Given the description of an element on the screen output the (x, y) to click on. 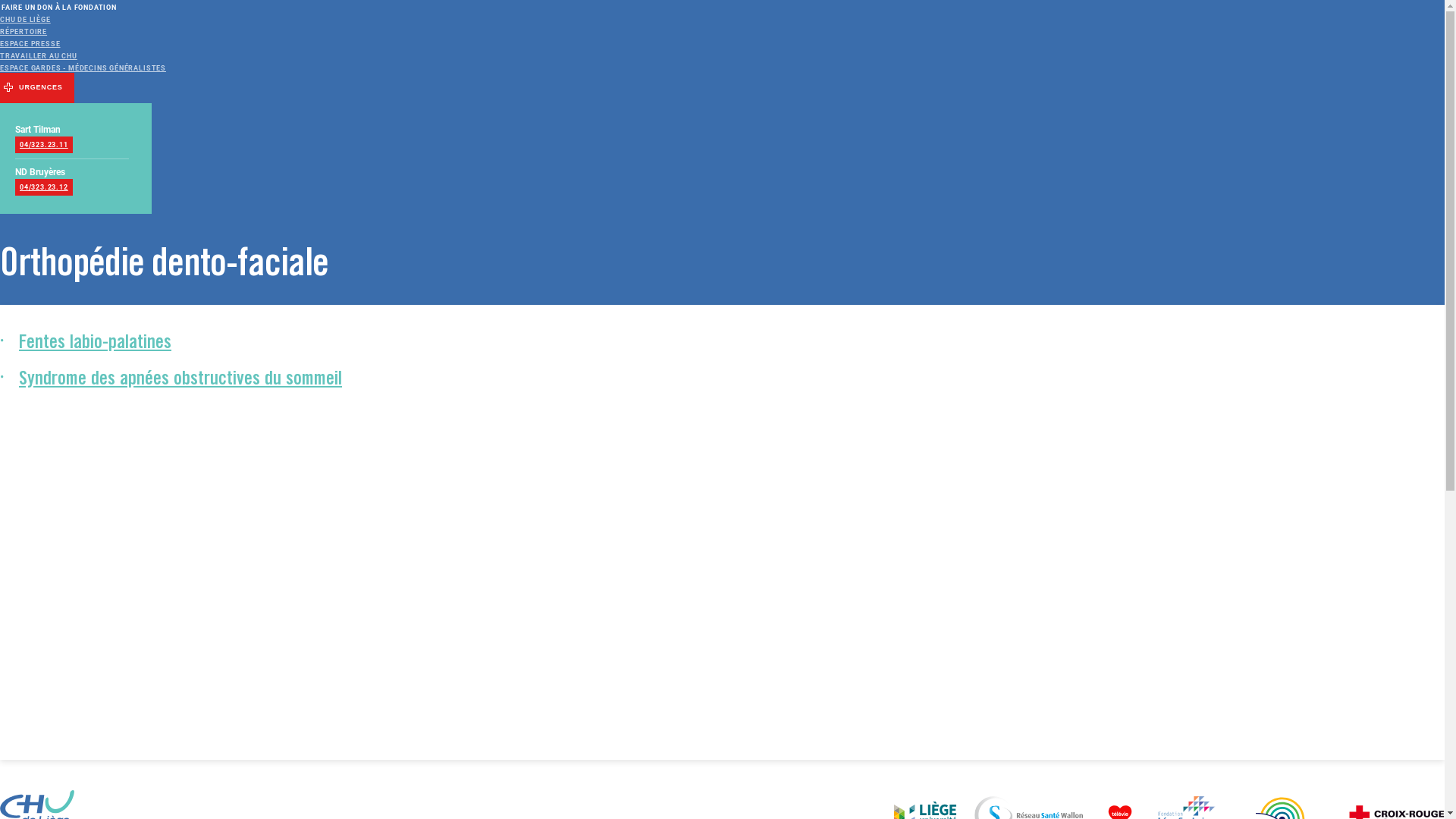
Services experts Element type: text (468, 171)
Centre des Maladies Rares Element type: text (232, 171)
Les soins aux patients Element type: text (360, 171)
Accueil Element type: text (1327, 312)
04/323.23.11 Element type: text (43, 144)
04/323.00.00 Element type: text (1222, 89)
La recherche Element type: text (620, 121)
La recherche Element type: text (1343, 343)
Accueil Element type: text (13, 171)
Les soins aux patients Element type: text (104, 171)
Les soins aux patients Element type: text (1367, 327)
Toggle navigation Element type: text (131, 59)
L'enseignement Element type: text (883, 121)
04/323.23.12 Element type: text (43, 186)
Les soins aux patients Element type: text (326, 121)
Fentes labio-palatines Element type: text (94, 343)
